Given the description of an element on the screen output the (x, y) to click on. 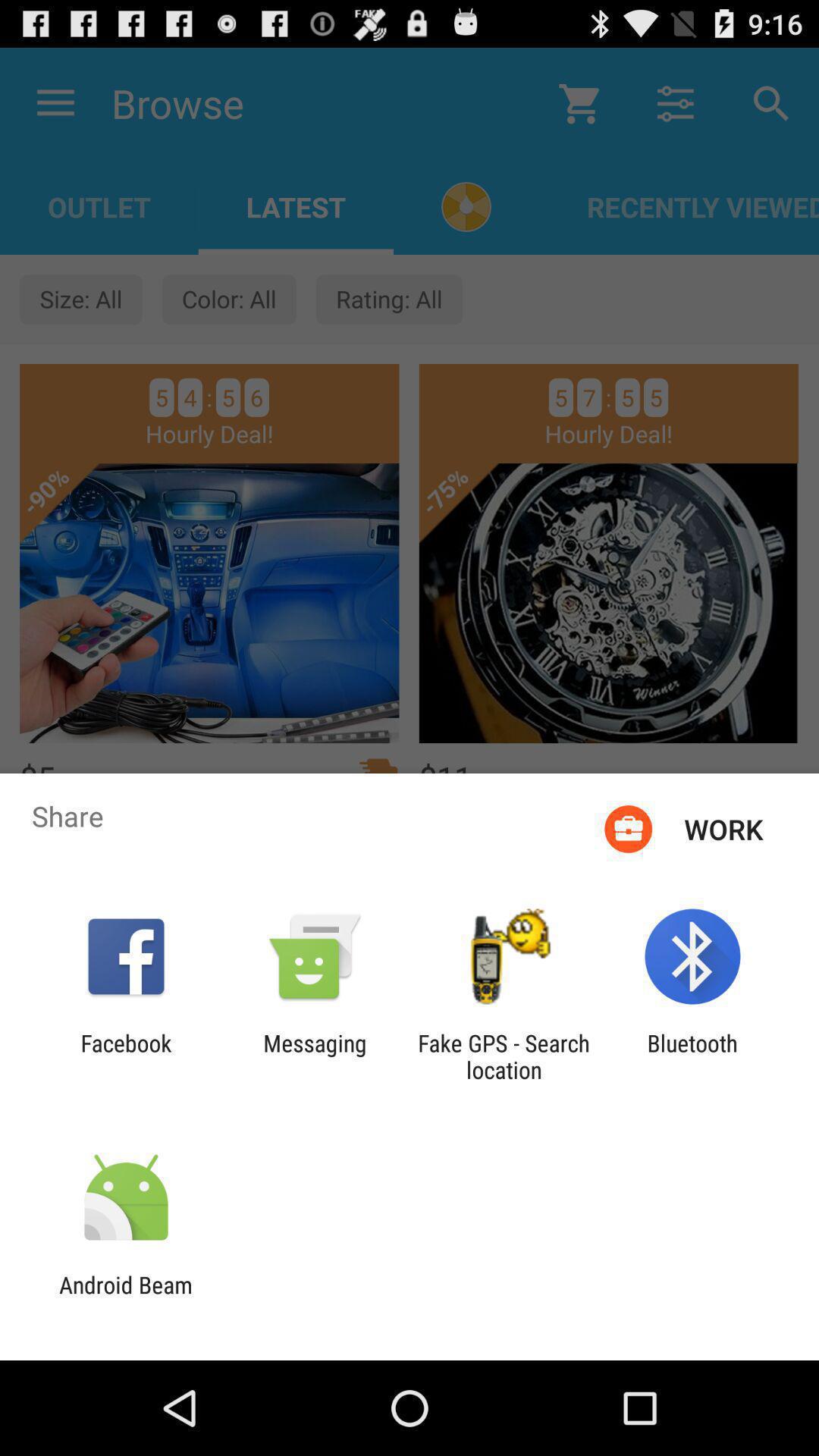
turn on the icon to the left of the messaging (125, 1056)
